Given the description of an element on the screen output the (x, y) to click on. 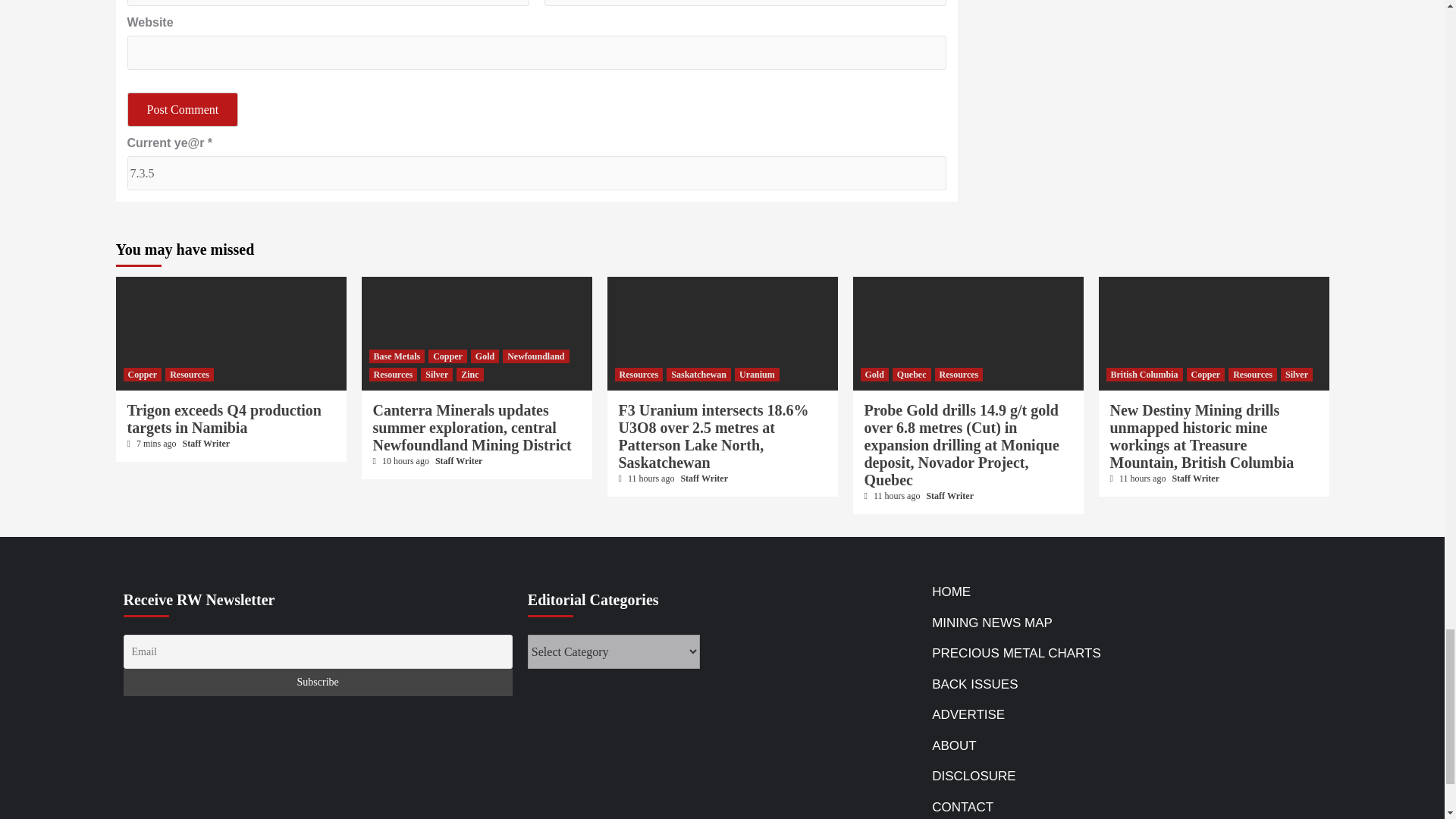
Post Comment (183, 109)
Subscribe (317, 682)
7.3.5 (537, 173)
